Given the description of an element on the screen output the (x, y) to click on. 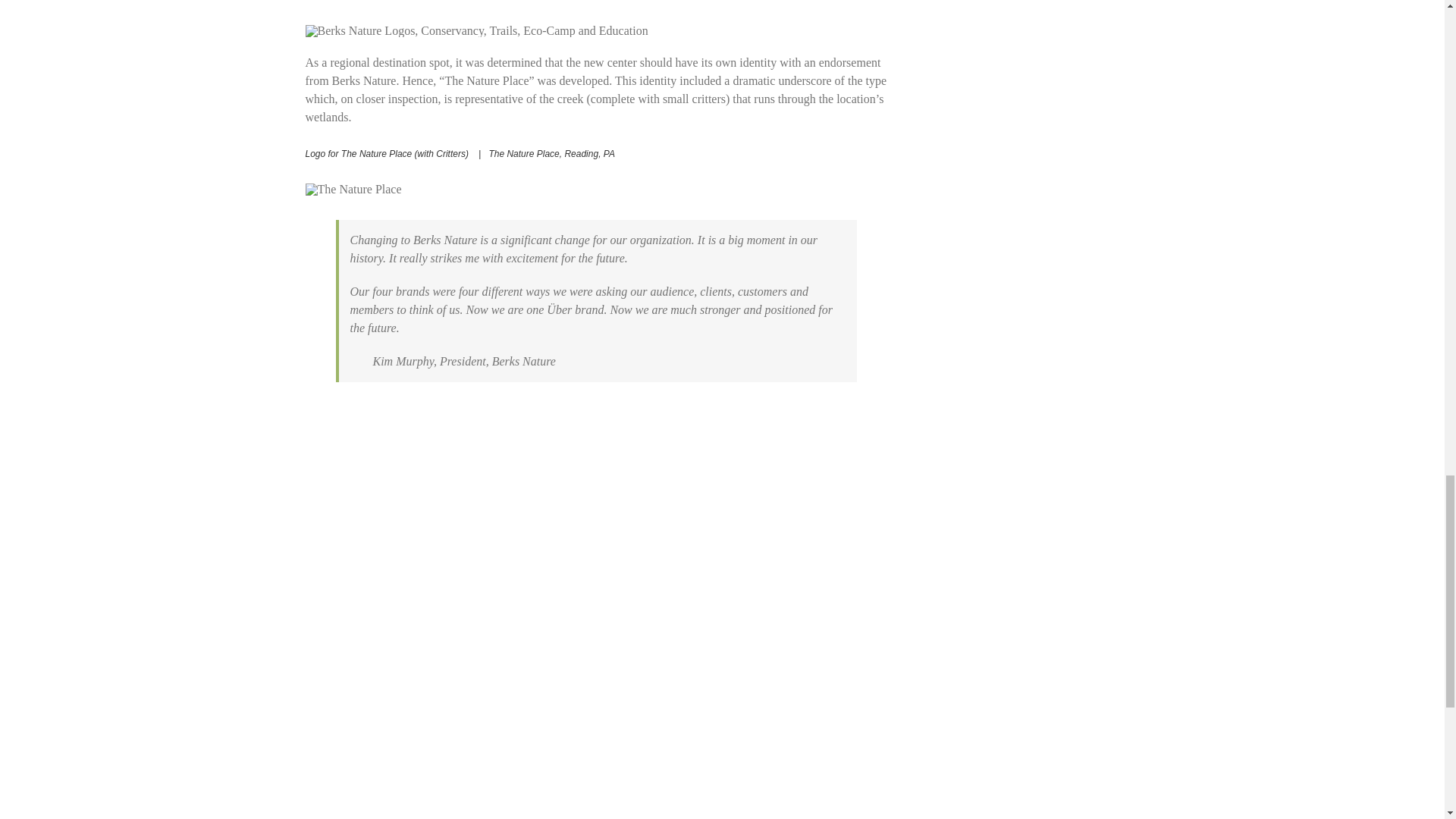
The Nature Place (352, 189)
Berks Nature Sub Brands CS (475, 30)
YouTube video player 1 (660, 787)
